Given the description of an element on the screen output the (x, y) to click on. 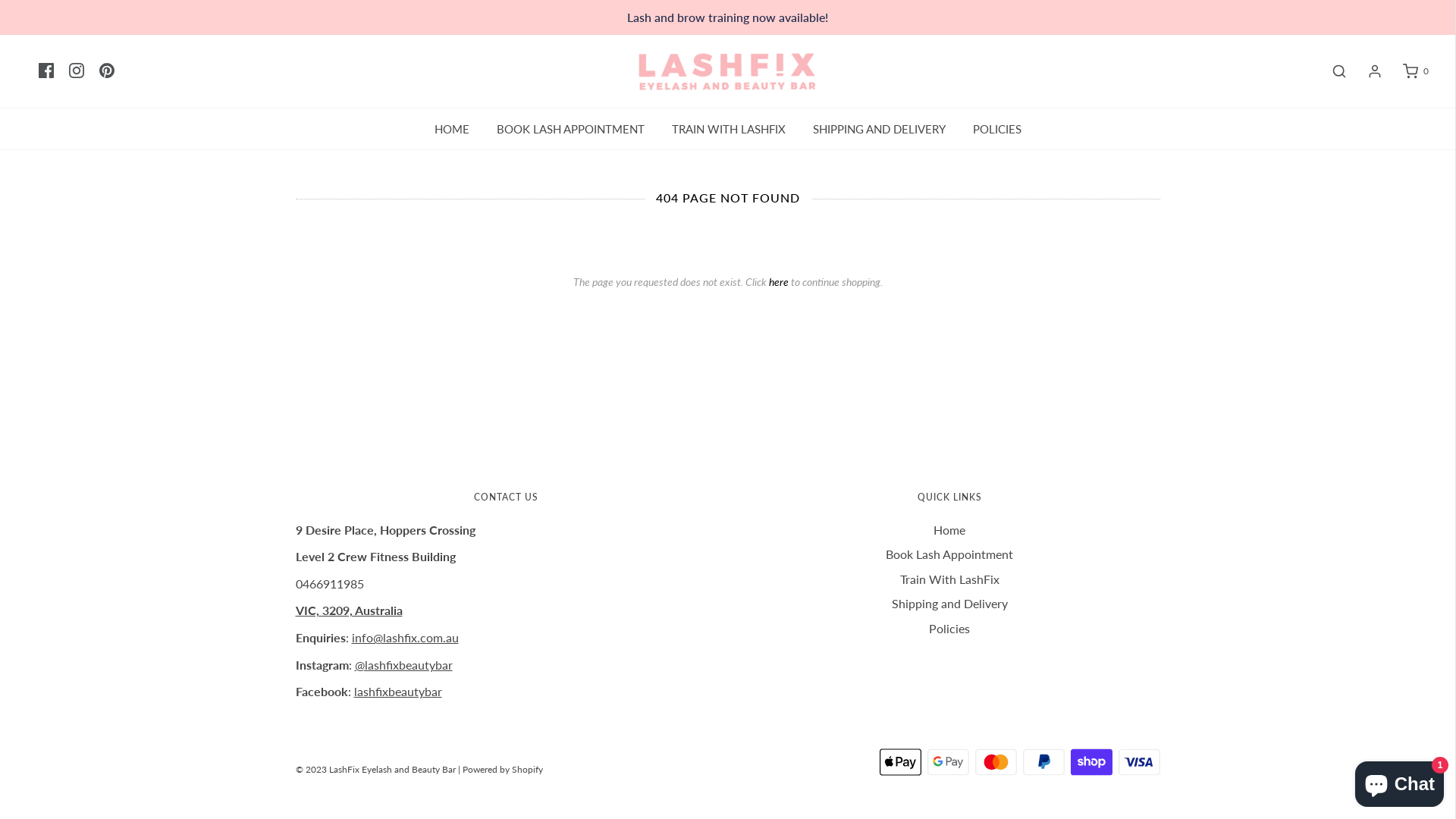
Shopify online store chat Element type: hover (1399, 780)
info@lashfix.com.au Element type: text (404, 637)
SHIPPING AND DELIVERY Element type: text (878, 128)
Policies Element type: text (948, 630)
Facebook icon Element type: text (45, 70)
here Element type: text (778, 281)
VIC, 3209, Australia Element type: text (348, 609)
Book Lash Appointment Element type: text (949, 556)
HOME Element type: text (451, 128)
Log in Element type: hover (1366, 70)
Shipping and Delivery Element type: text (949, 605)
@lashfixbeautybar Element type: text (403, 664)
Instagram icon Element type: text (76, 70)
lashfixbeautybar Element type: text (397, 691)
Powered by Shopify Element type: text (502, 769)
Home Element type: text (949, 532)
Train With LashFix Element type: text (948, 581)
0 Element type: text (1407, 70)
Search Element type: hover (1331, 70)
POLICIES Element type: text (996, 128)
BOOK LASH APPOINTMENT Element type: text (570, 128)
TRAIN WITH LASHFIX Element type: text (727, 128)
Lash and brow training now available! Element type: text (727, 17)
Pinterest icon Element type: text (106, 70)
